Given the description of an element on the screen output the (x, y) to click on. 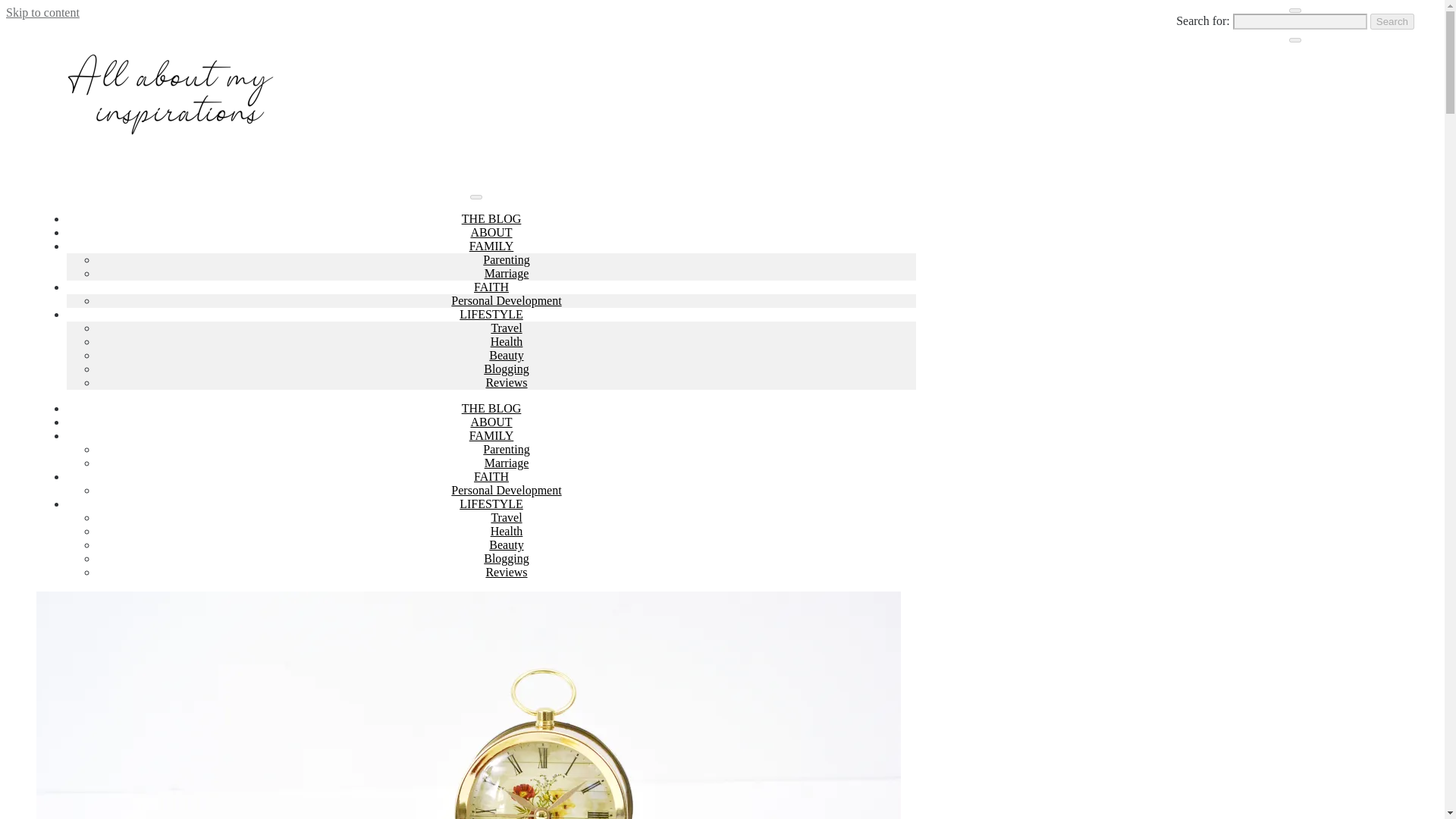
Search (1391, 21)
Personal Development (505, 490)
FAITH (491, 476)
THE BLOG (491, 408)
FAMILY (490, 435)
Marriage (506, 273)
LIFESTYLE (491, 314)
Marriage (506, 462)
Blogging (506, 368)
All About My Inspirations (175, 166)
Travel (505, 517)
FAITH (491, 286)
THE BLOG (491, 218)
Skip to content (42, 11)
Reviews (505, 571)
